Given the description of an element on the screen output the (x, y) to click on. 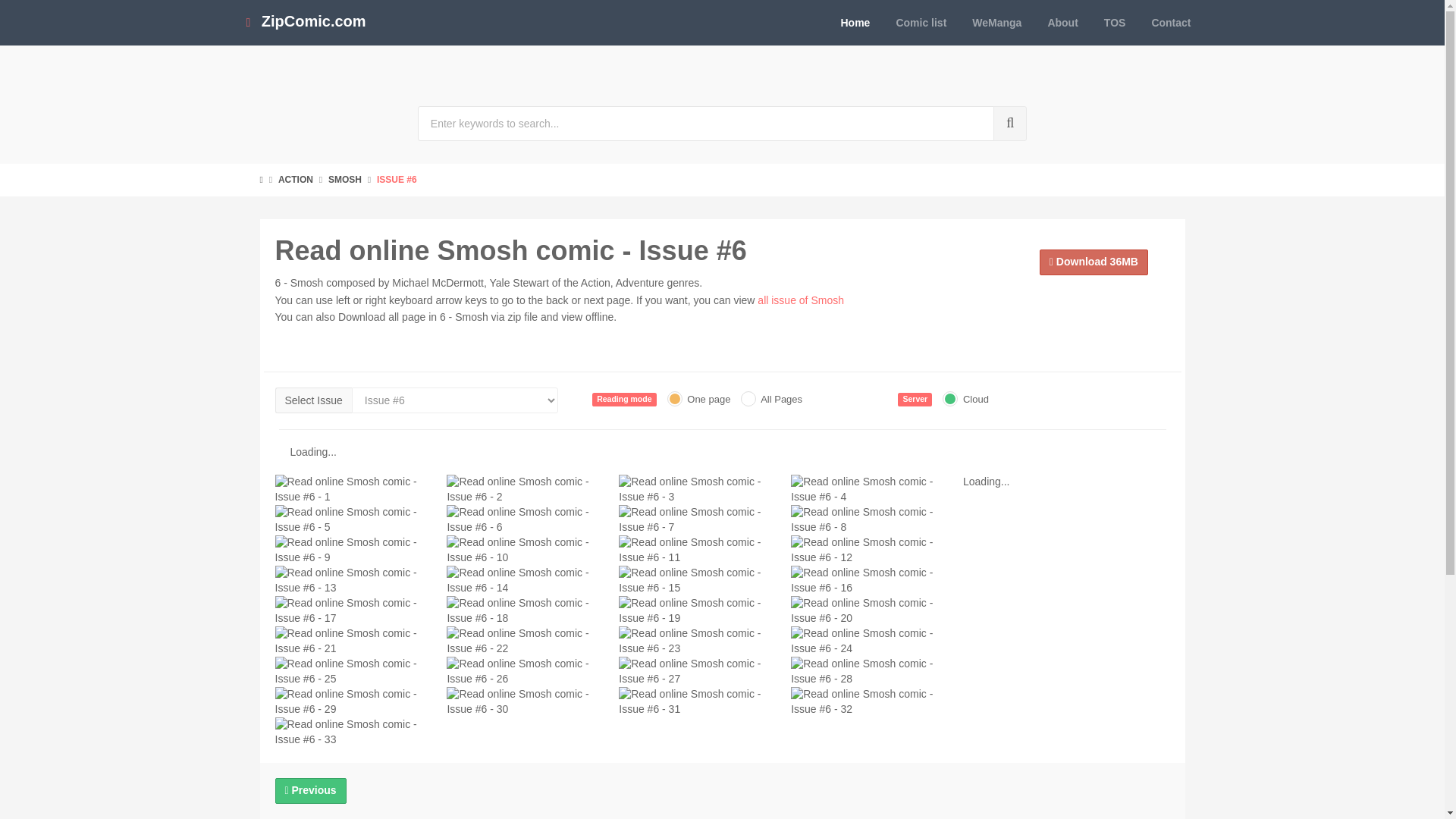
About (1062, 22)
ACTION (295, 179)
  ZipComic.com (304, 22)
SMOSH (345, 179)
Previous (310, 790)
Home (855, 22)
Online read comic and download complete archive zip comic (304, 22)
TOS (1114, 22)
WeManga (996, 22)
all issue of Smosh (800, 300)
